Given the description of an element on the screen output the (x, y) to click on. 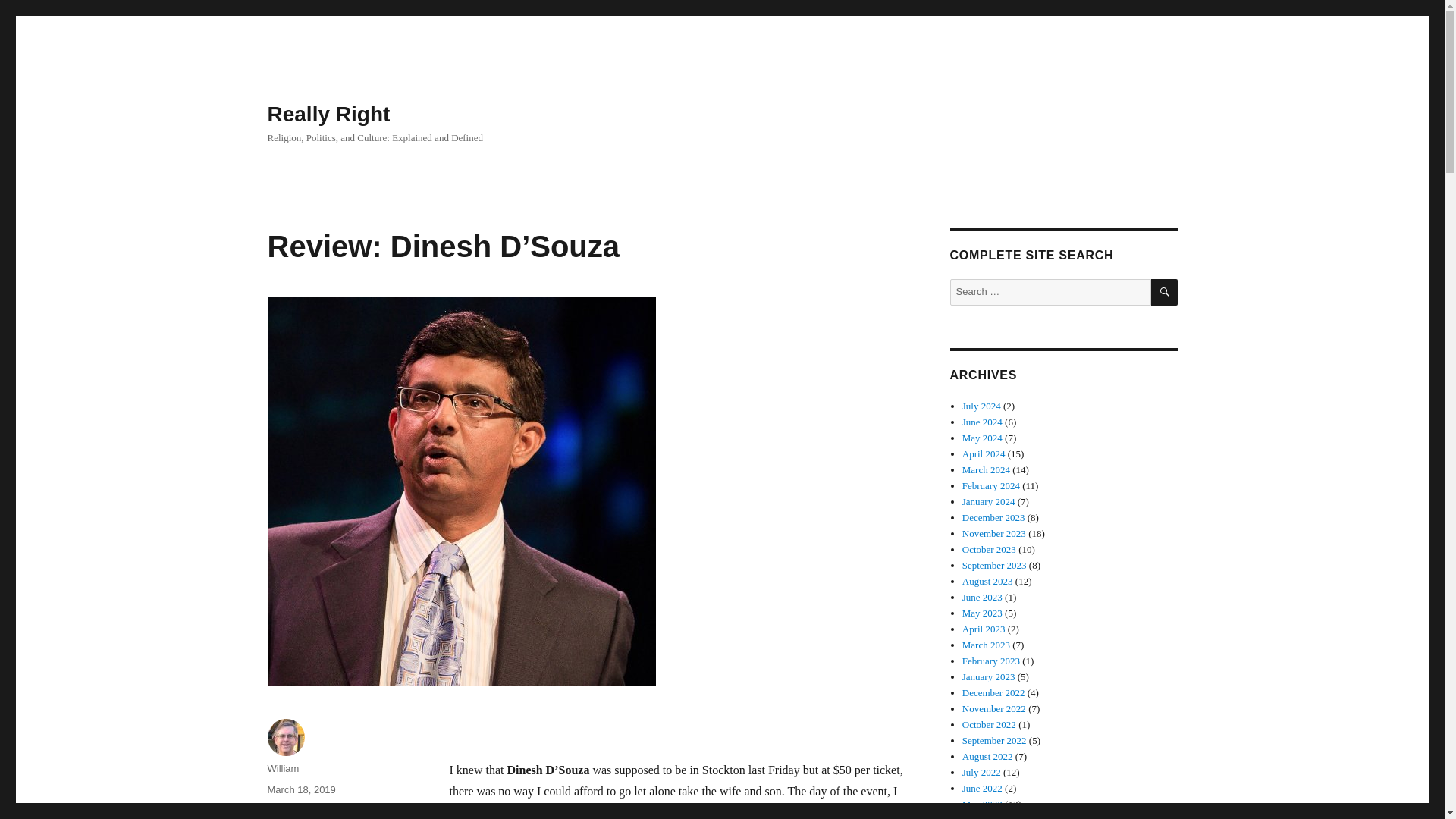
July 2022 (981, 772)
April 2024 (984, 453)
SEARCH (1164, 292)
Societal Decay (336, 810)
William (282, 767)
October 2022 (989, 724)
January 2024 (988, 501)
February 2023 (991, 660)
Really Right (328, 114)
May 2023 (982, 613)
December 2022 (993, 692)
June 2023 (982, 596)
March 2024 (986, 469)
March 18, 2019 (300, 789)
July 2024 (981, 405)
